Given the description of an element on the screen output the (x, y) to click on. 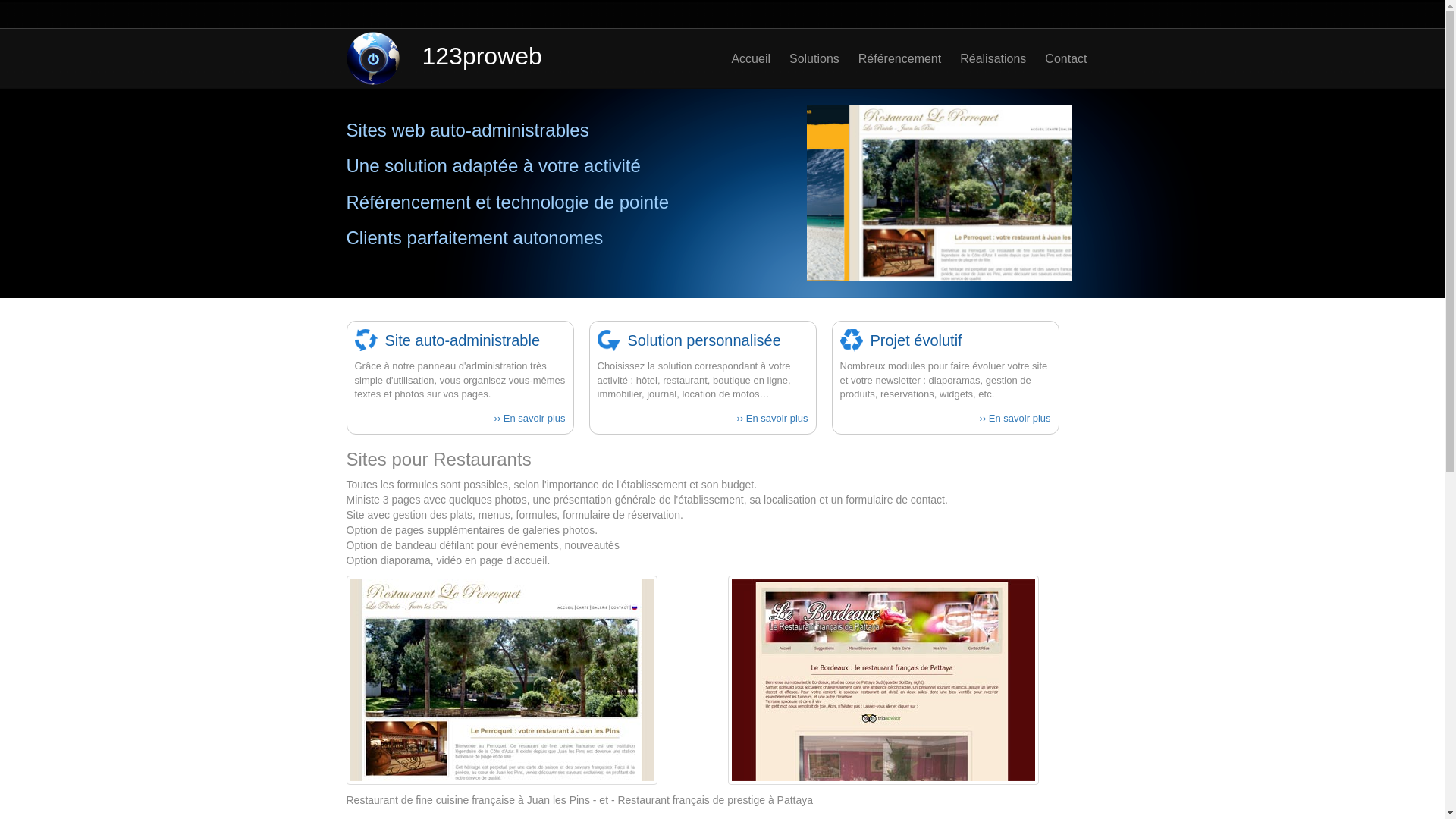
Accueil Element type: text (741, 58)
Contact Element type: text (1056, 58)
Solutions Element type: text (804, 58)
123proweb Element type: text (482, 58)
